Given the description of an element on the screen output the (x, y) to click on. 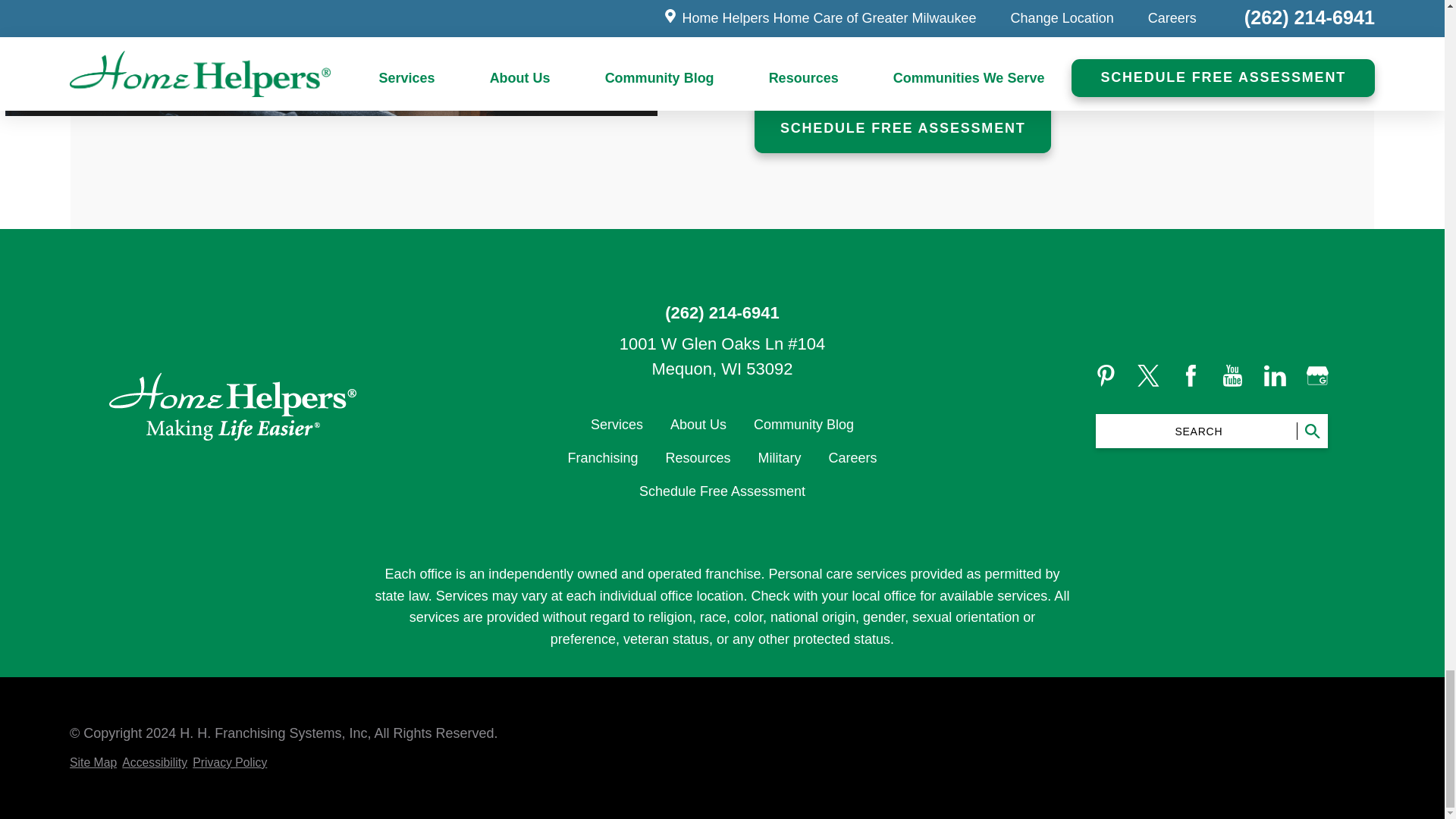
Facebook (1190, 375)
YouTube (1232, 375)
LinkedIn (1274, 375)
Twitter (1147, 375)
Pinterest (1105, 375)
Google Map (1316, 375)
